Given the description of an element on the screen output the (x, y) to click on. 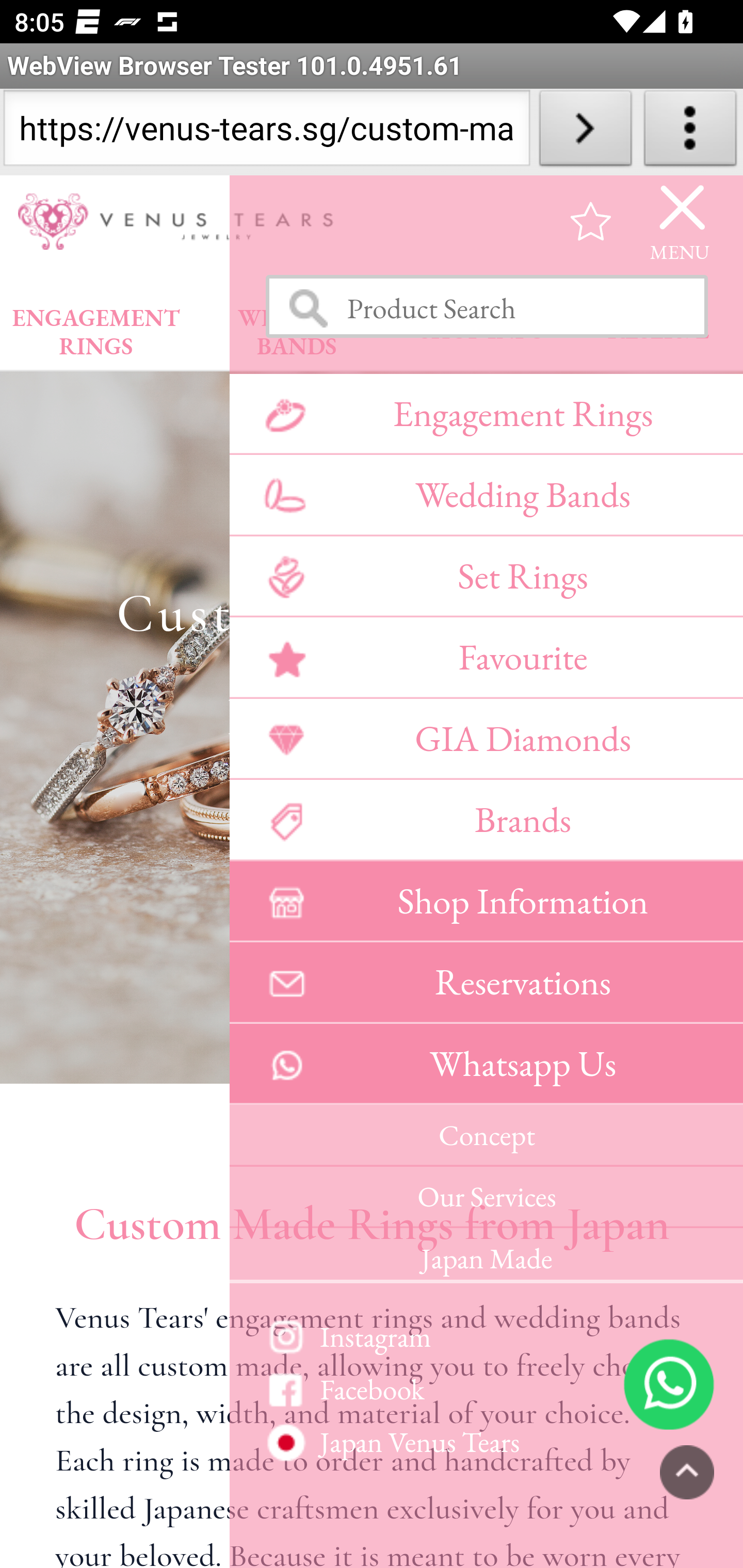
https://venus-tears.sg/custom-made-rings (266, 132)
Load URL (585, 132)
About WebView (690, 132)
favourite (591, 220)
MENU (680, 220)
Engagement Rings (485, 412)
Wedding Bands (485, 495)
Set Rings (485, 575)
Favourite (485, 657)
GIA Diamonds (485, 737)
Brands (485, 819)
Shop Information (485, 900)
Reservations (485, 982)
Whatsapp Us (485, 1063)
Concept (485, 1135)
Our Services (485, 1197)
Japan Made (485, 1255)
Instagram (485, 1335)
6585184875 (668, 1383)
Facebook (485, 1389)
Japan Venus Tears (485, 1441)
PAGETOP (686, 1472)
